Given the description of an element on the screen output the (x, y) to click on. 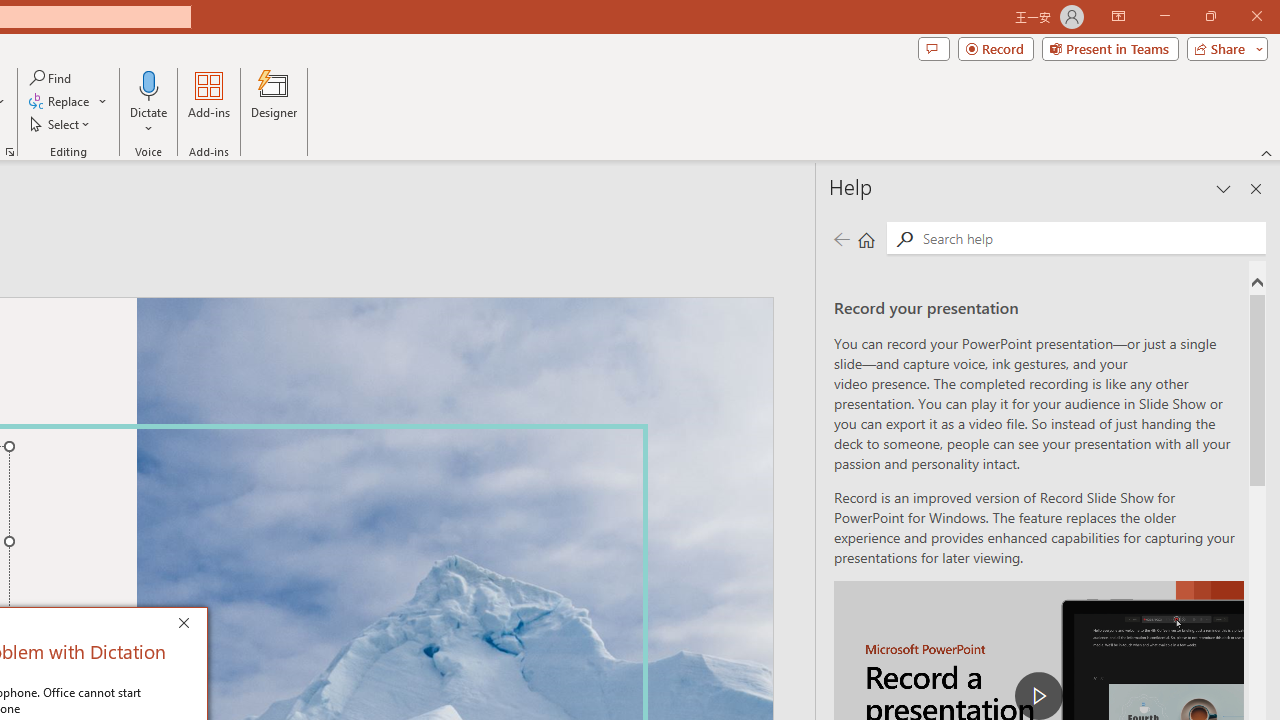
play Record a Presentation (1038, 695)
